Given the description of an element on the screen output the (x, y) to click on. 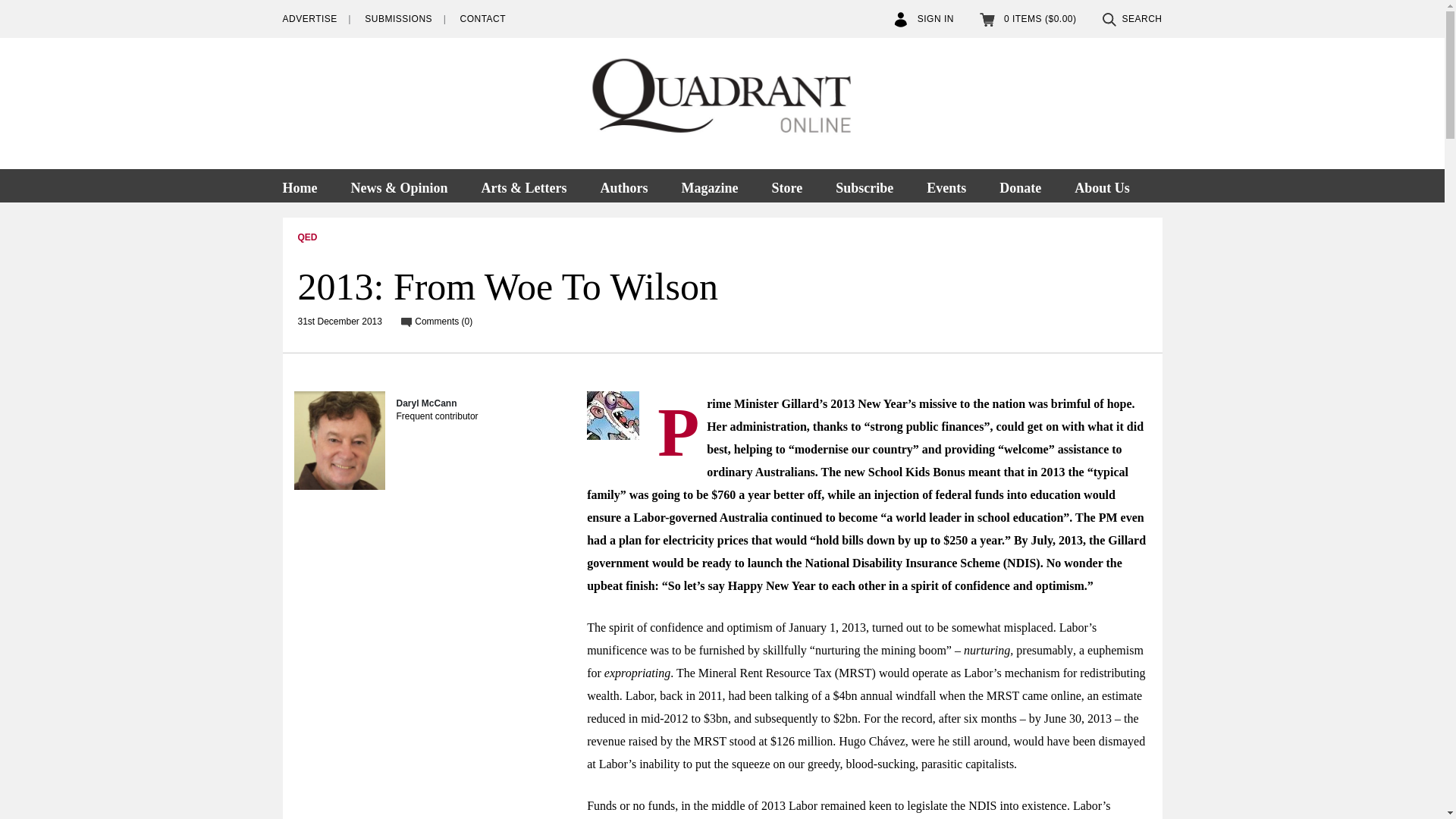
Subscribe (864, 185)
Home (306, 185)
SEARCH (1131, 18)
SIGN IN (923, 18)
Magazine (708, 185)
Authors (623, 185)
Store (785, 185)
CONTACT (482, 18)
Events (946, 185)
About Us (1101, 185)
ADVERTISE (309, 18)
Donate (1020, 185)
SUBMISSIONS (398, 18)
